Given the description of an element on the screen output the (x, y) to click on. 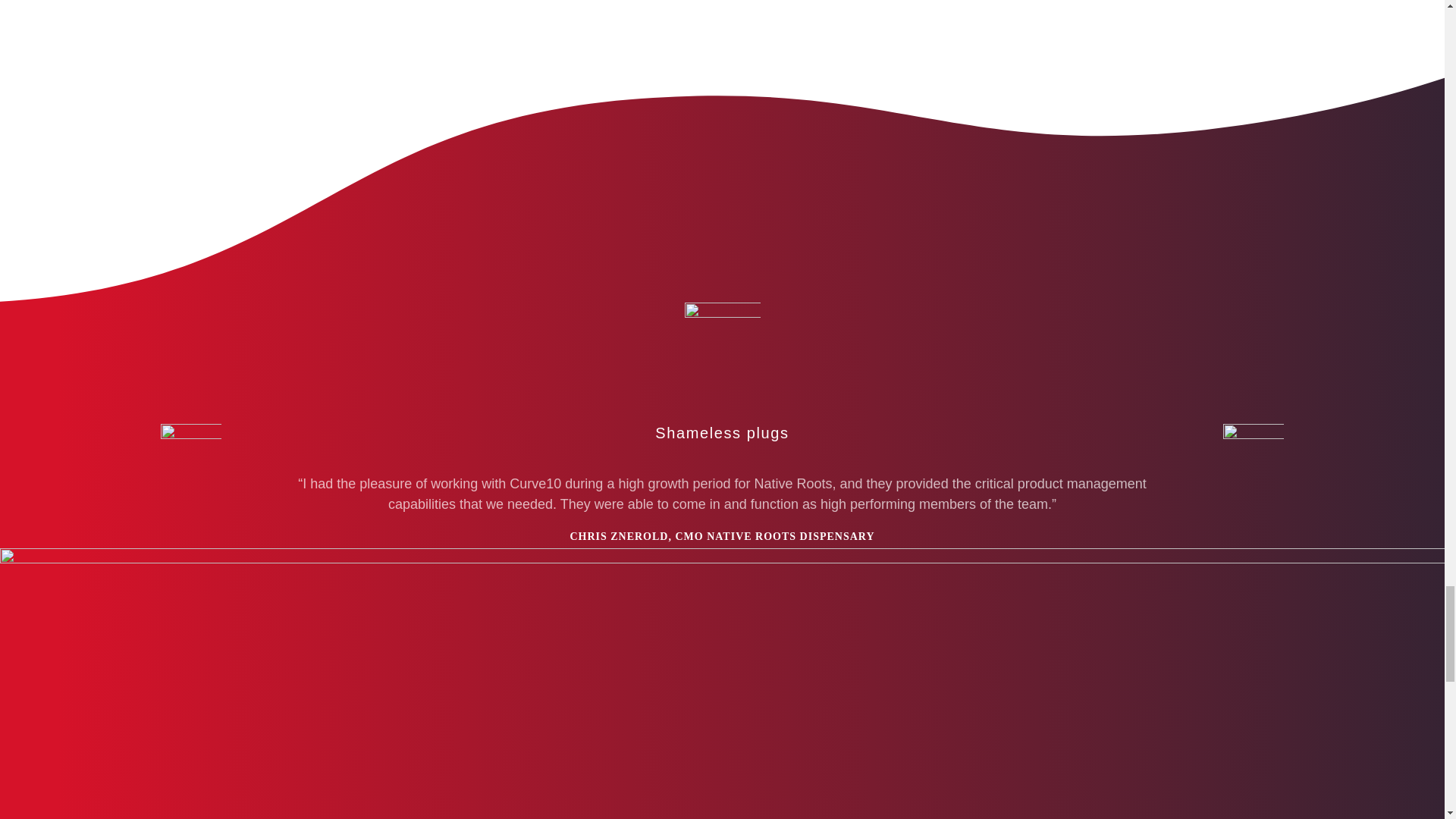
icon-megaphone-300px (722, 340)
